Given the description of an element on the screen output the (x, y) to click on. 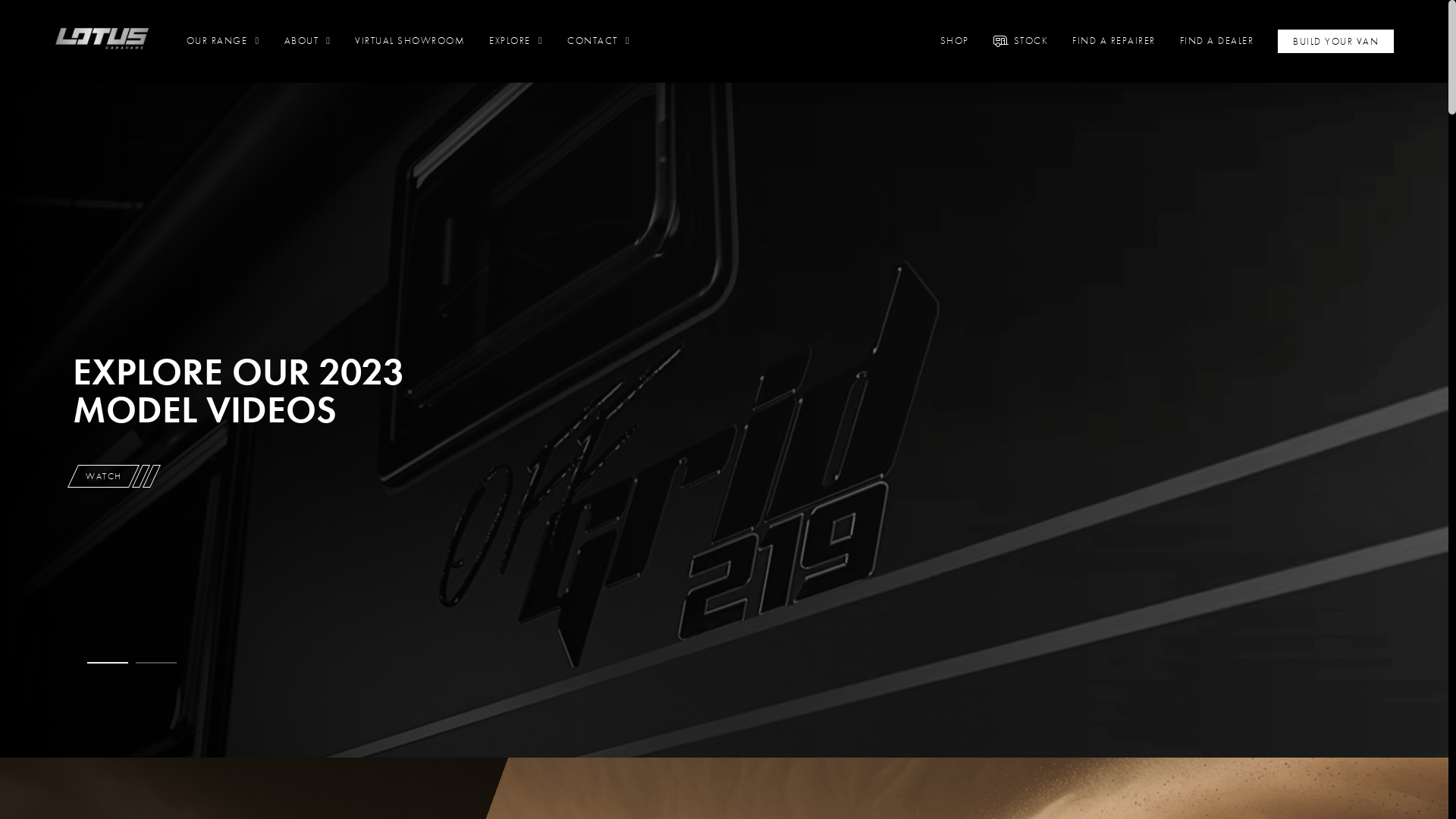
SHOP Element type: text (954, 41)
WATCH Element type: text (97, 475)
VIRTUAL SHOWROOM Element type: text (409, 41)
BUILD YOUR VAN Element type: text (1335, 41)
1 Element type: text (107, 661)
2 Element type: text (155, 661)
STOCK Element type: text (1030, 41)
CONTACT Element type: text (598, 41)
FIND A DEALER Element type: text (1216, 41)
ABOUT Element type: text (307, 41)
EXPLORE Element type: text (515, 41)
FIND A REPAIRER Element type: text (1113, 41)
OUR RANGE Element type: text (223, 41)
